Given the description of an element on the screen output the (x, y) to click on. 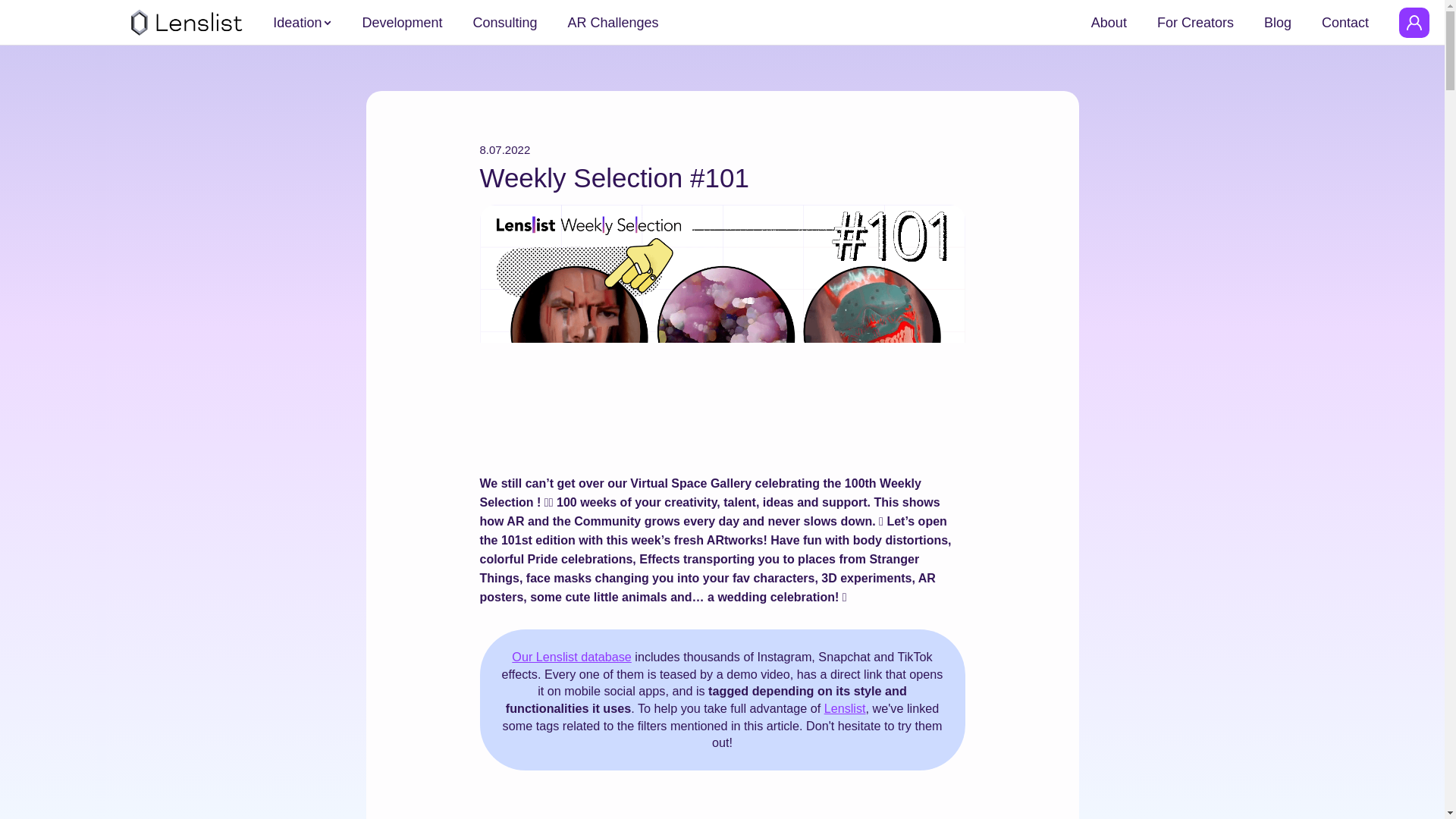
Contact (1345, 22)
Blog (1277, 22)
Ideation (297, 22)
For Creators (1195, 22)
About (1108, 22)
Consulting (504, 22)
Our Lenslist database (571, 656)
Lenslist (845, 707)
AR Challenges (613, 22)
Development (401, 22)
